Given the description of an element on the screen output the (x, y) to click on. 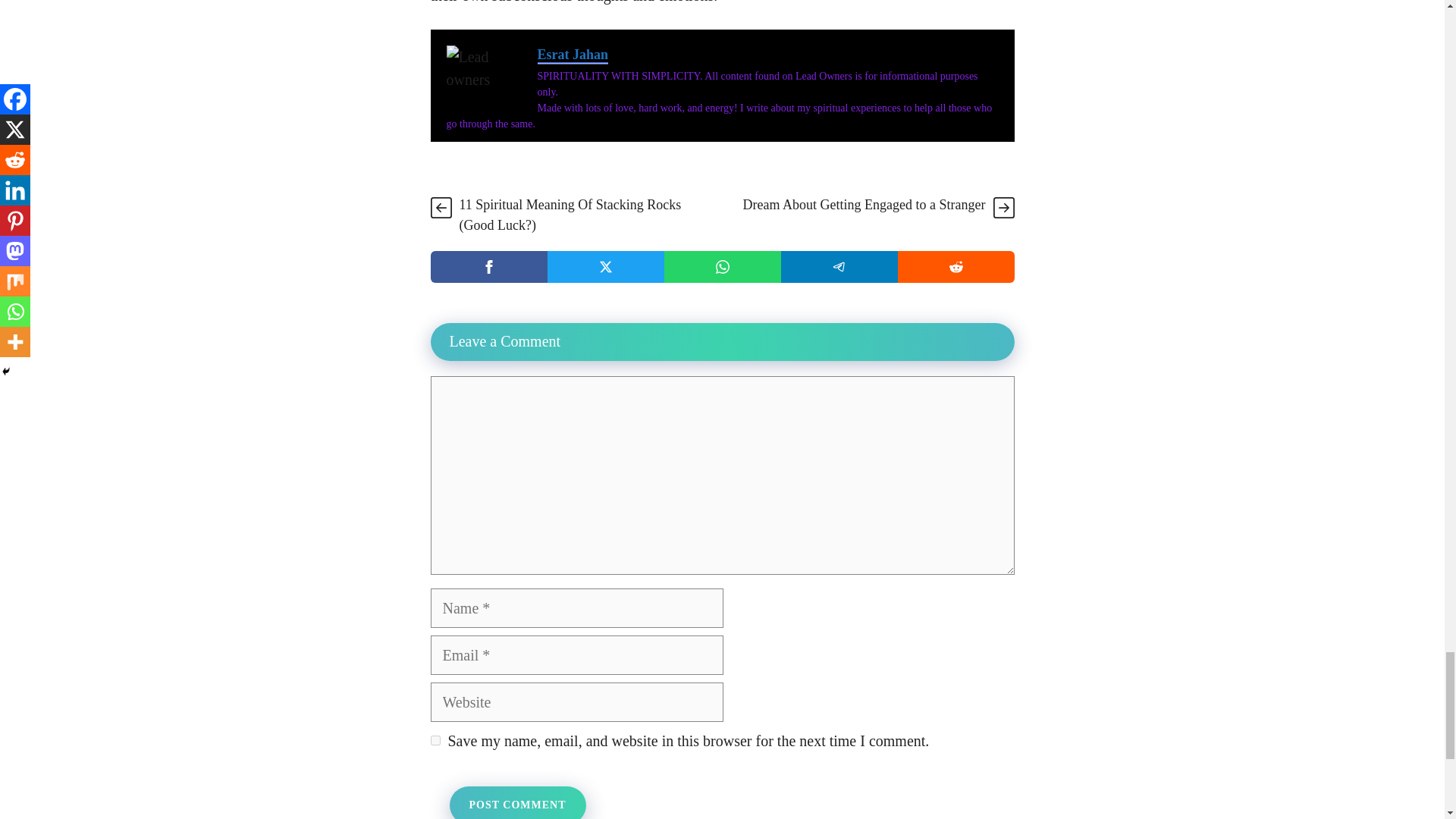
yes (435, 740)
Post Comment (516, 802)
